Given the description of an element on the screen output the (x, y) to click on. 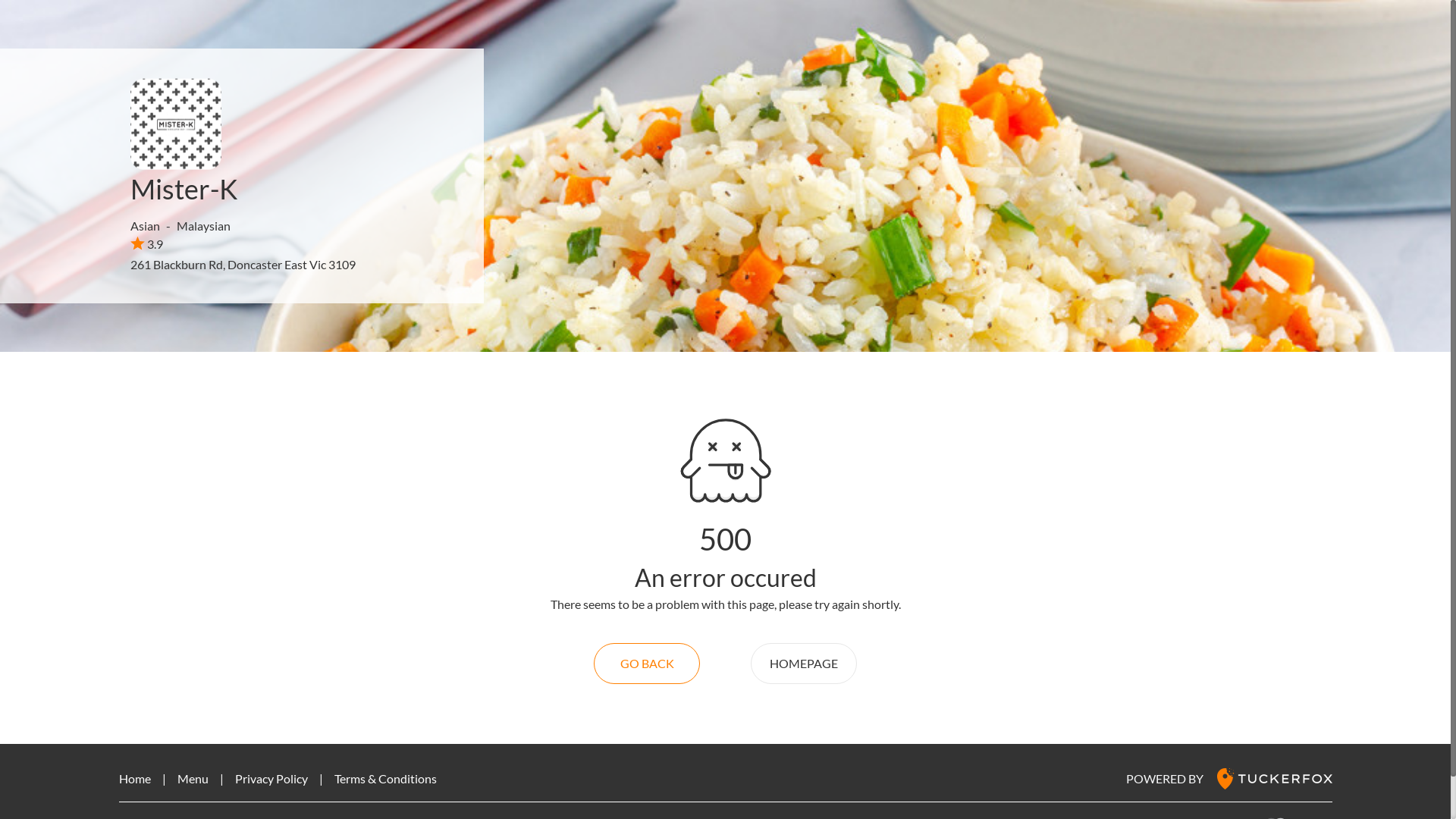
Mister-K Element type: text (184, 188)
Home Element type: text (134, 778)
Privacy Policy Element type: text (271, 778)
3.9 Element type: text (146, 243)
GO BACK Element type: text (646, 663)
HOMEPAGE Element type: text (803, 663)
Menu Element type: text (192, 778)
Terms & Conditions Element type: text (384, 778)
